Given the description of an element on the screen output the (x, y) to click on. 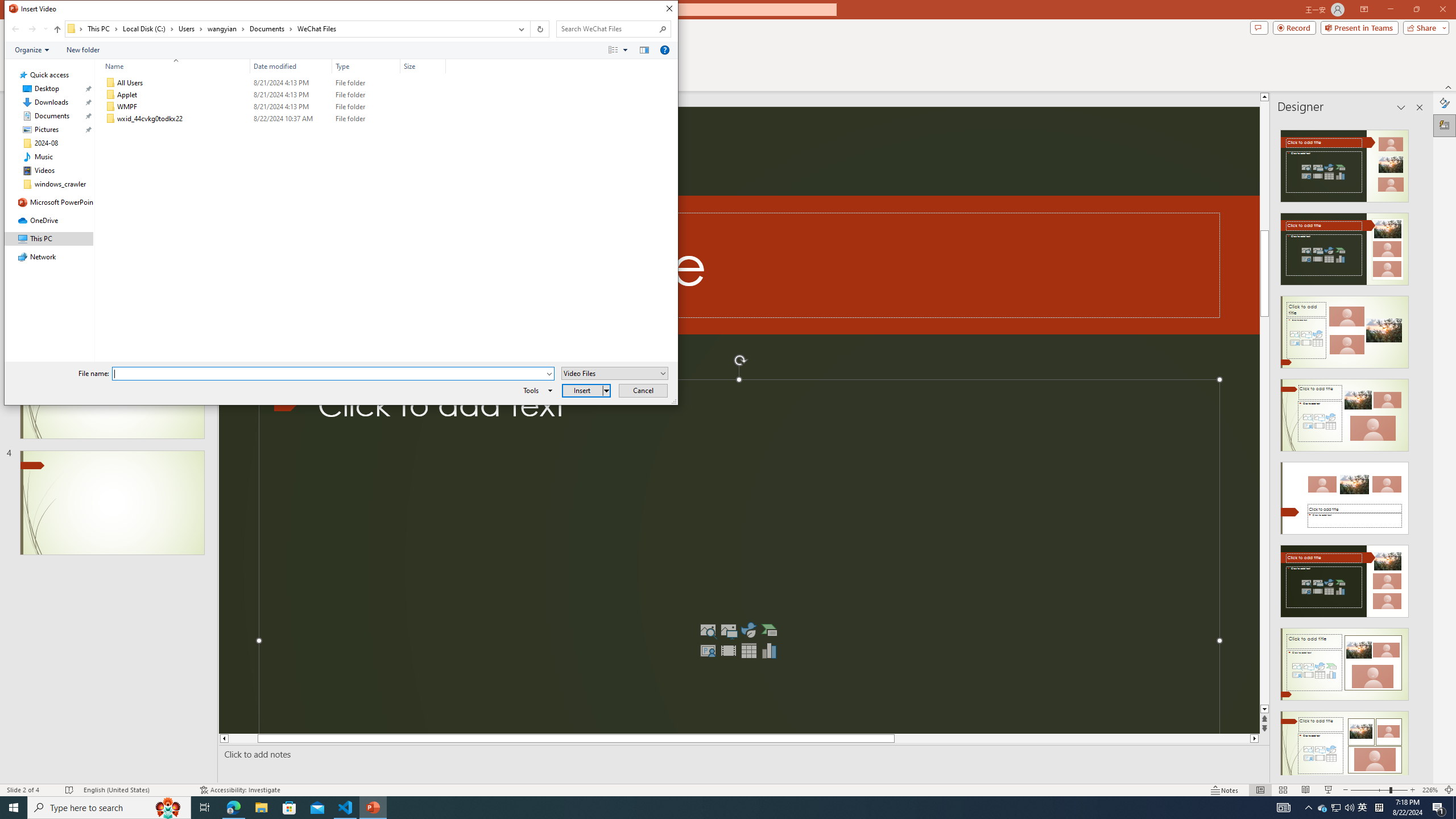
This PC (102, 28)
Insert a SmartArt Graphic (769, 629)
Class: NetUIScrollBar (1418, 447)
&Help (664, 49)
Recommended Design: Design Idea (1344, 162)
Navigation buttons (1322, 807)
Insert Video (28, 28)
Class: UIImage (728, 650)
